Given the description of an element on the screen output the (x, y) to click on. 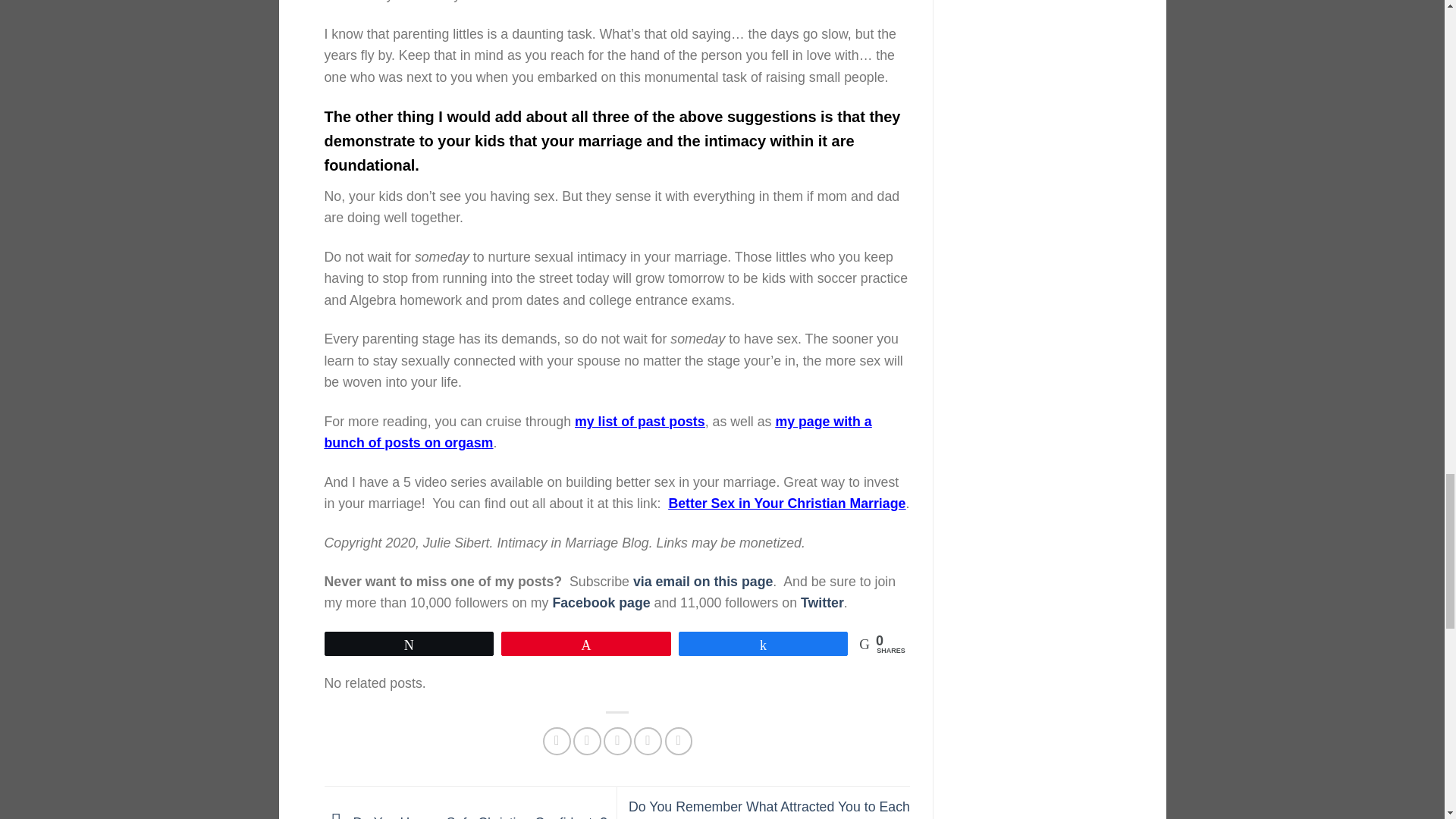
Email to a Friend (617, 741)
Share on Facebook (556, 741)
Share on LinkedIn (679, 741)
Pin on Pinterest (647, 741)
Share on Twitter (587, 741)
